Given the description of an element on the screen output the (x, y) to click on. 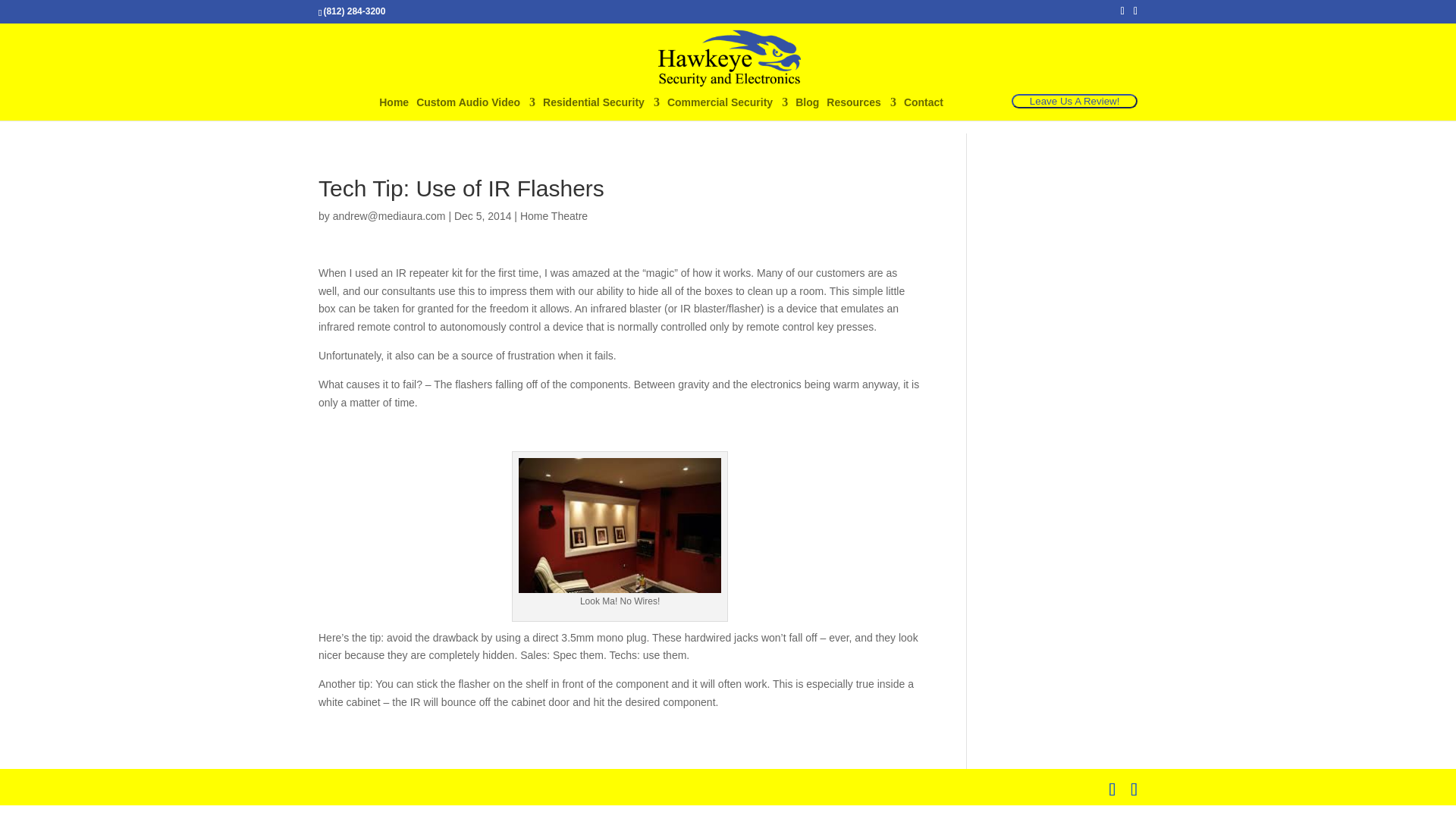
Leave Us A Review! (1074, 101)
Residential Security (601, 108)
Home (393, 108)
Leave Us A Review! (1074, 101)
Custom Audio Video (475, 108)
